Given the description of an element on the screen output the (x, y) to click on. 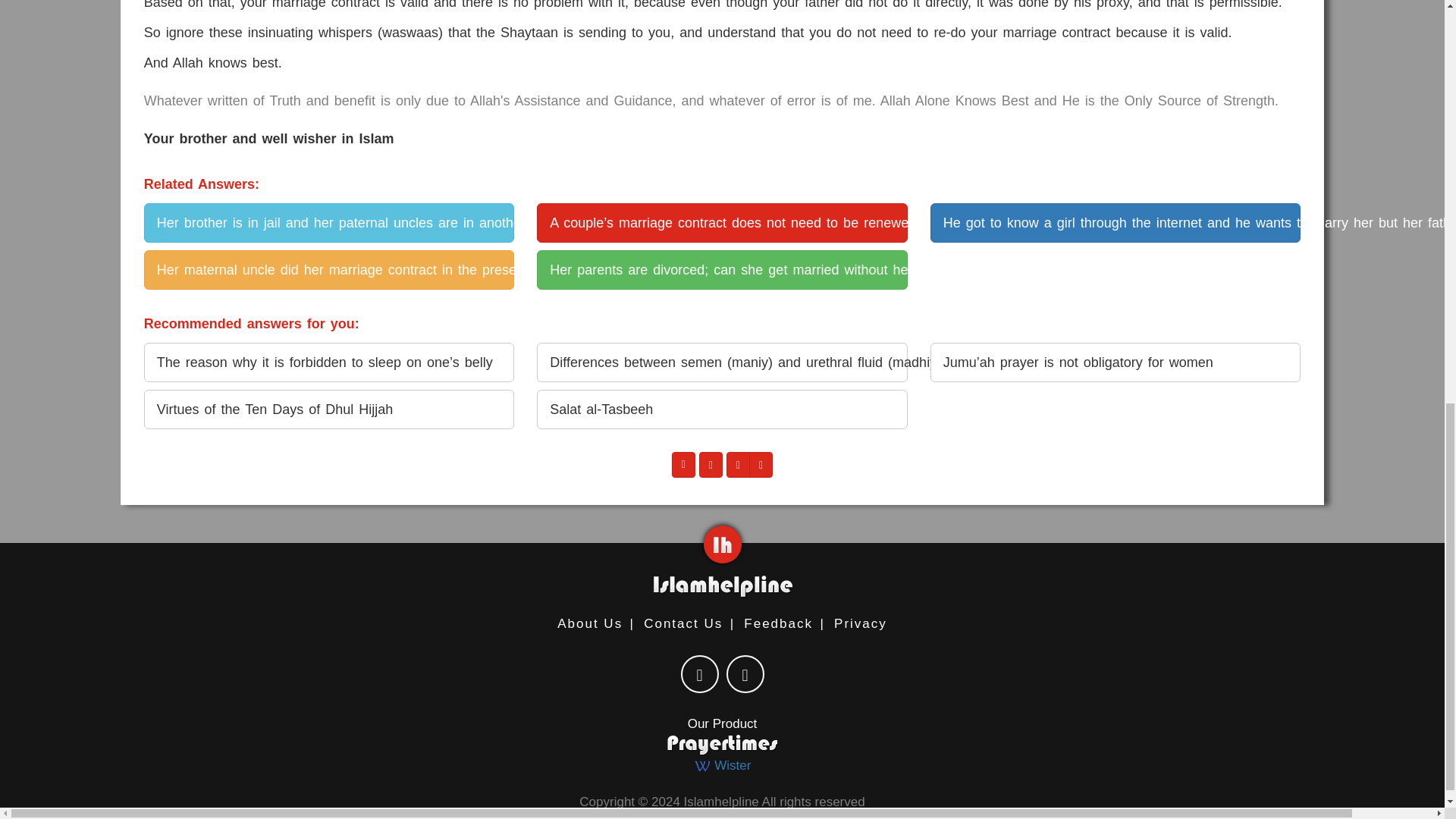
Virtues of the Ten Days of Dhul Hijjah (328, 409)
